Given the description of an element on the screen output the (x, y) to click on. 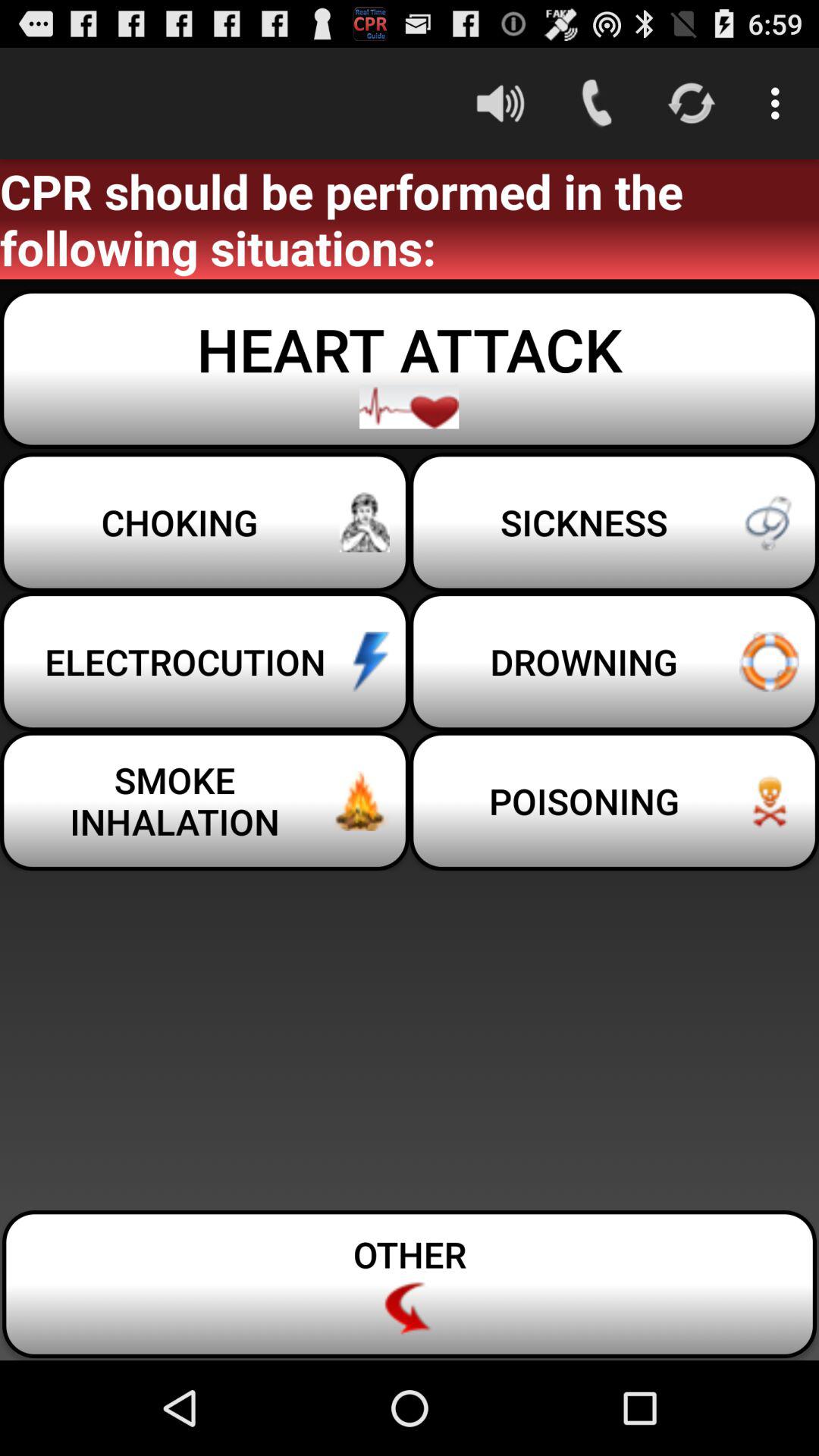
jump until the sickness item (614, 522)
